Given the description of an element on the screen output the (x, y) to click on. 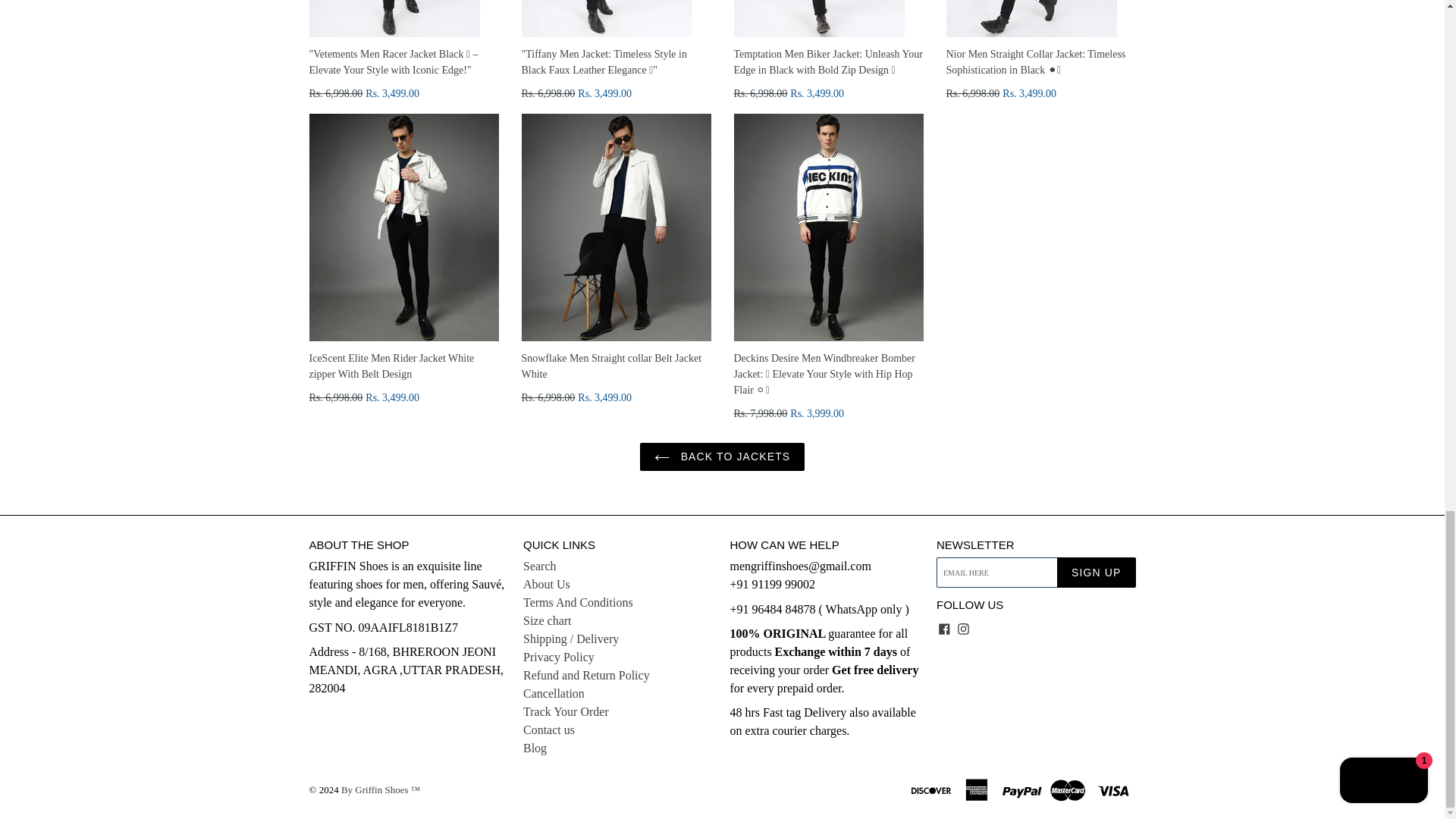
american express (977, 788)
paypal (1024, 788)
discover (932, 788)
visa (1114, 788)
